Given the description of an element on the screen output the (x, y) to click on. 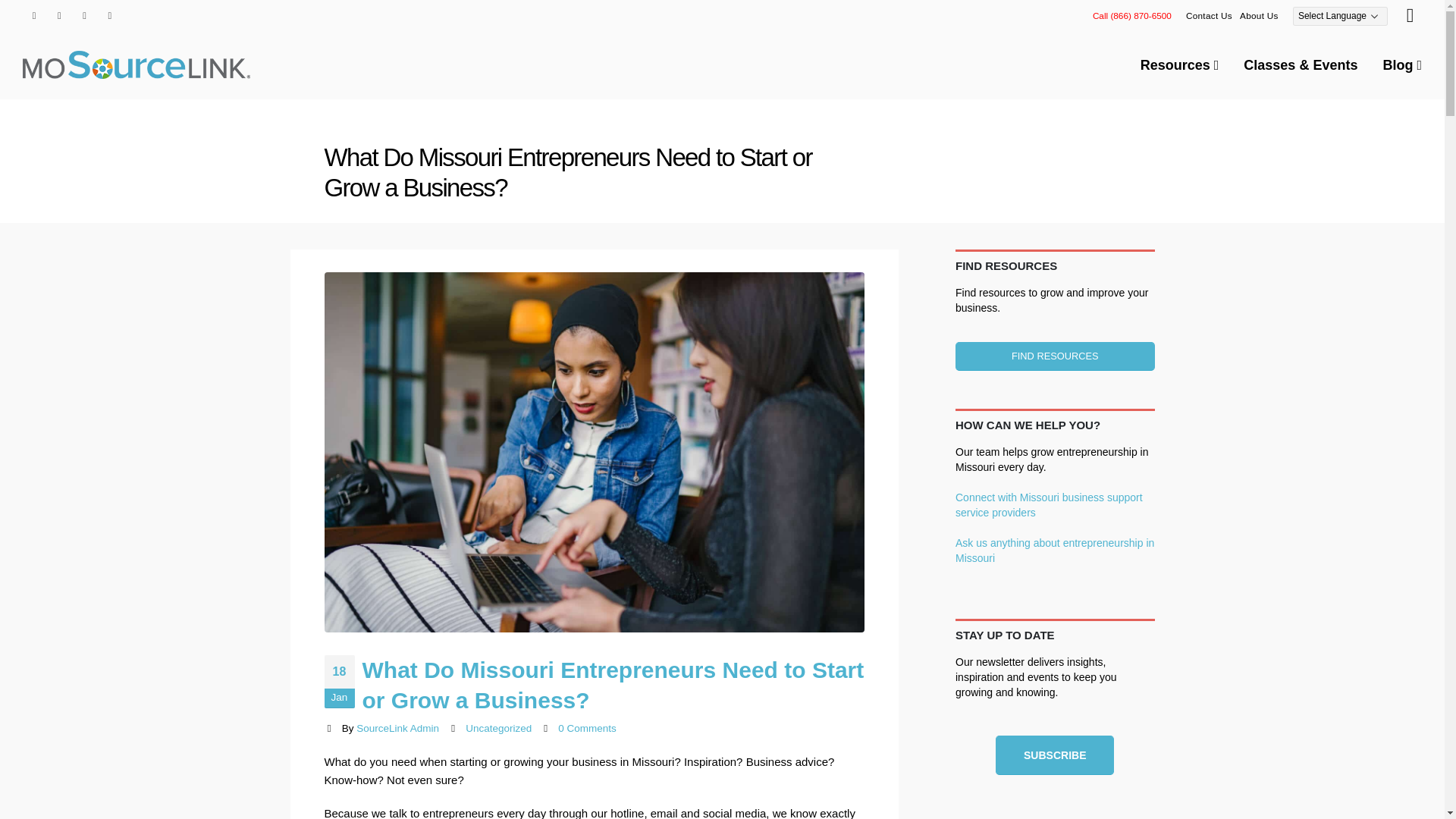
Twitter (58, 15)
0 Comments (586, 727)
Resources (1179, 64)
Facebook (34, 15)
Blog (1402, 64)
Posts by SourceLink Admin (397, 727)
RSS (85, 15)
LinkedIn (109, 15)
About Us (1259, 15)
MOSourceLink -  (136, 64)
Contact Us (1209, 15)
